Given the description of an element on the screen output the (x, y) to click on. 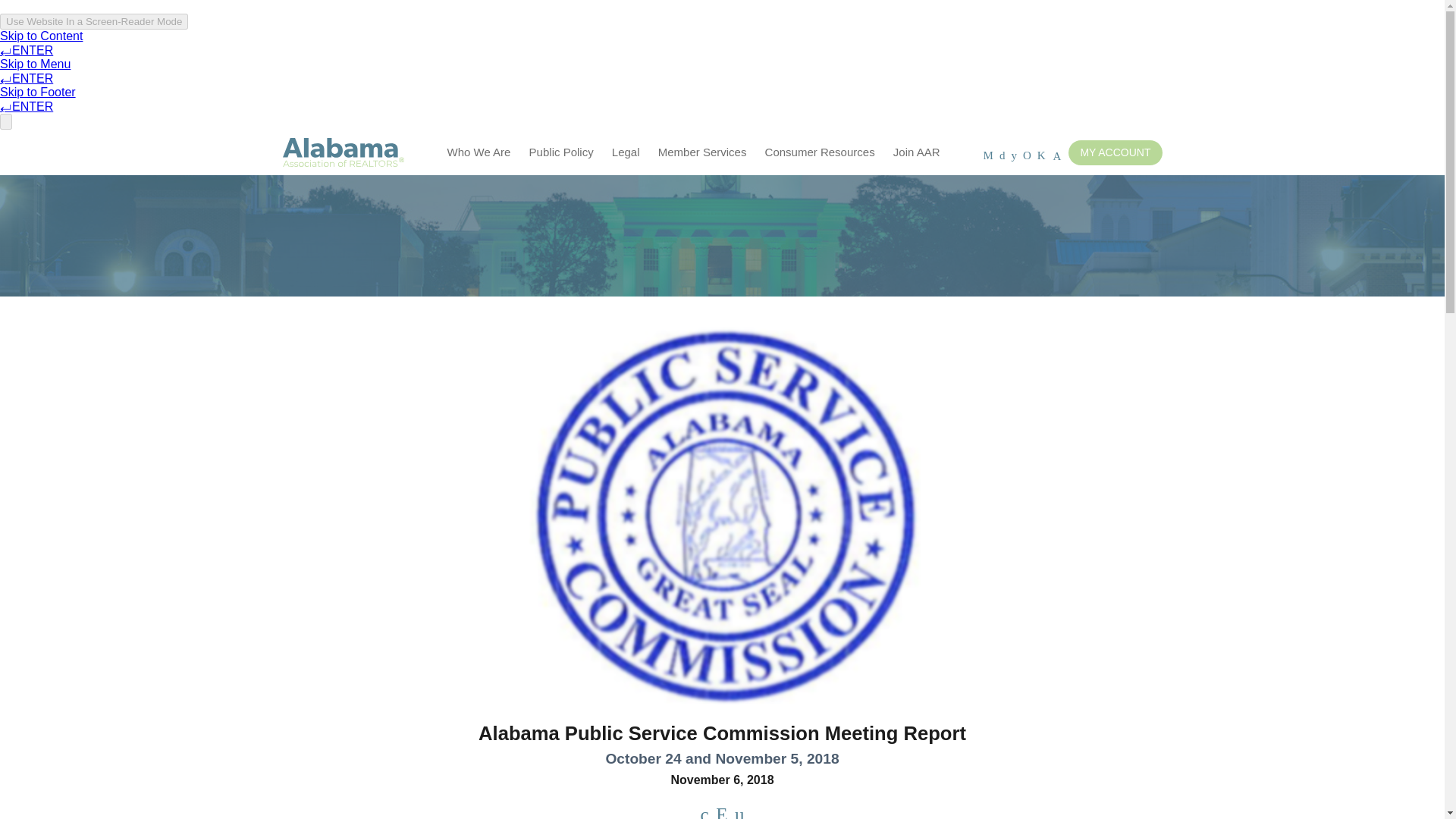
Public Policy (561, 152)
Consumer Resources (819, 152)
Alabama Association of REALTORS (342, 152)
Legal (625, 152)
Member Services (702, 152)
Who We Are (478, 152)
